Given the description of an element on the screen output the (x, y) to click on. 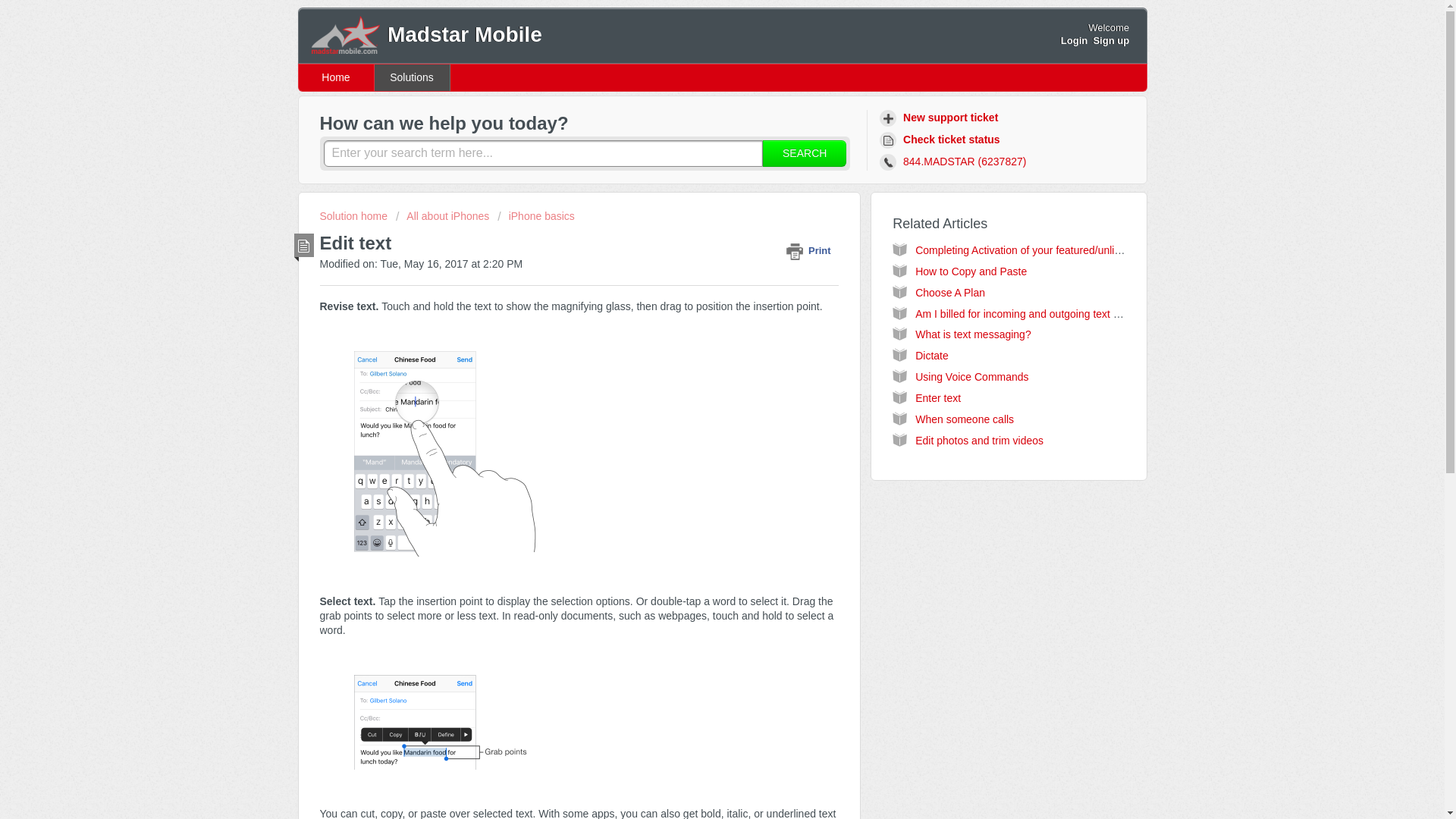
When someone calls (964, 419)
Using Voice Commands (971, 377)
Am I billed for incoming and outgoing text messages? (1041, 313)
New support ticket (940, 117)
Enter text (937, 398)
Choose A Plan (950, 292)
Edit photos and trim videos (979, 440)
Solutions (411, 77)
How to Copy and Paste (970, 271)
Dictate (932, 355)
Home (336, 77)
iPhone basics (536, 215)
Sign up (1111, 40)
What is text messaging? (972, 334)
Print this Article (812, 250)
